Given the description of an element on the screen output the (x, y) to click on. 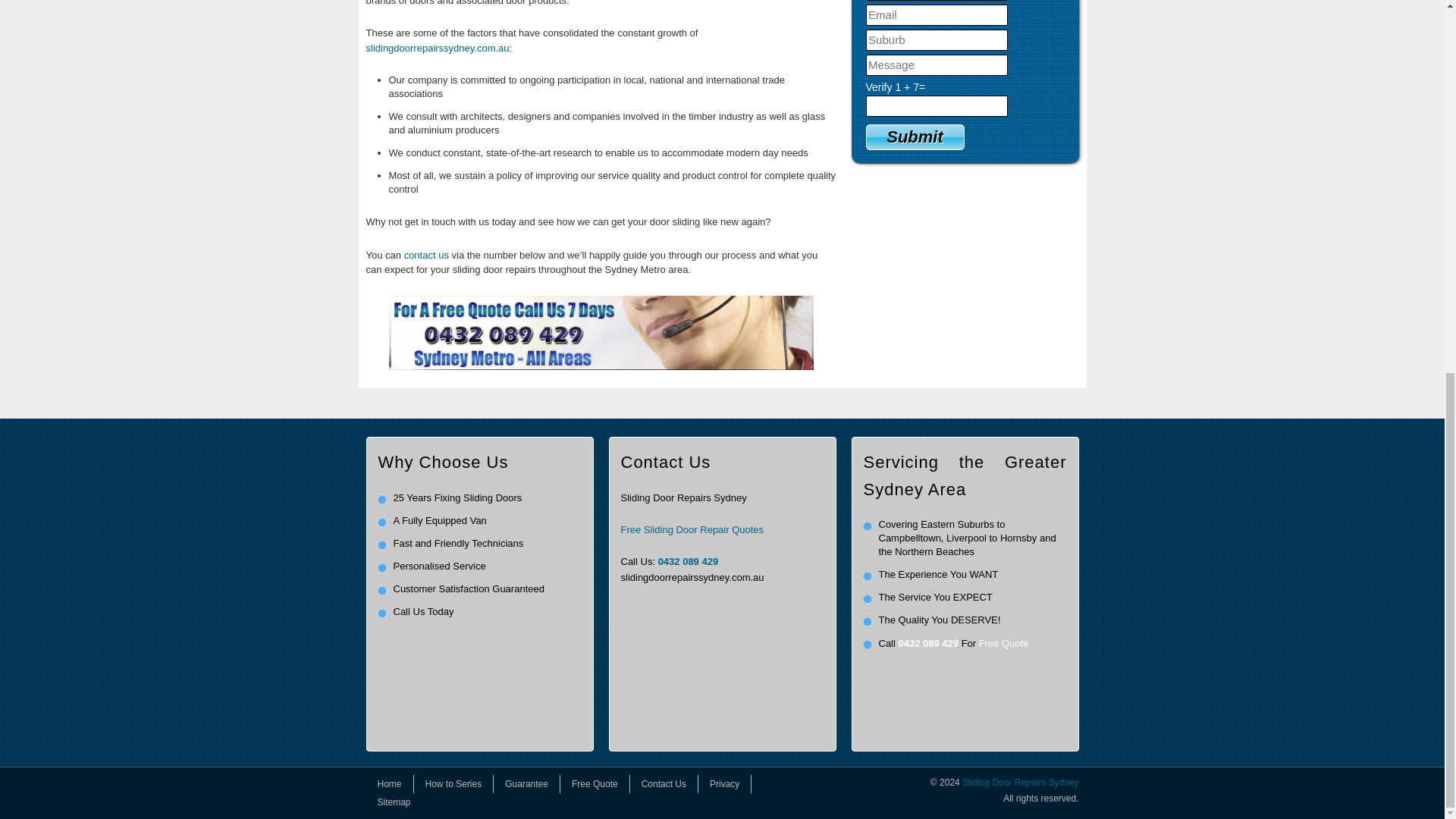
Sliding Door Repairs Sydney (1020, 782)
Free Quote (1003, 643)
Free Sliding Door Repair Quotes (691, 529)
Free Quote (595, 783)
Home (389, 783)
slidingdoorrepairssydney.com.au (436, 48)
Submit (914, 136)
Privacy (724, 783)
contact us (426, 255)
Guarantee (526, 783)
